Given the description of an element on the screen output the (x, y) to click on. 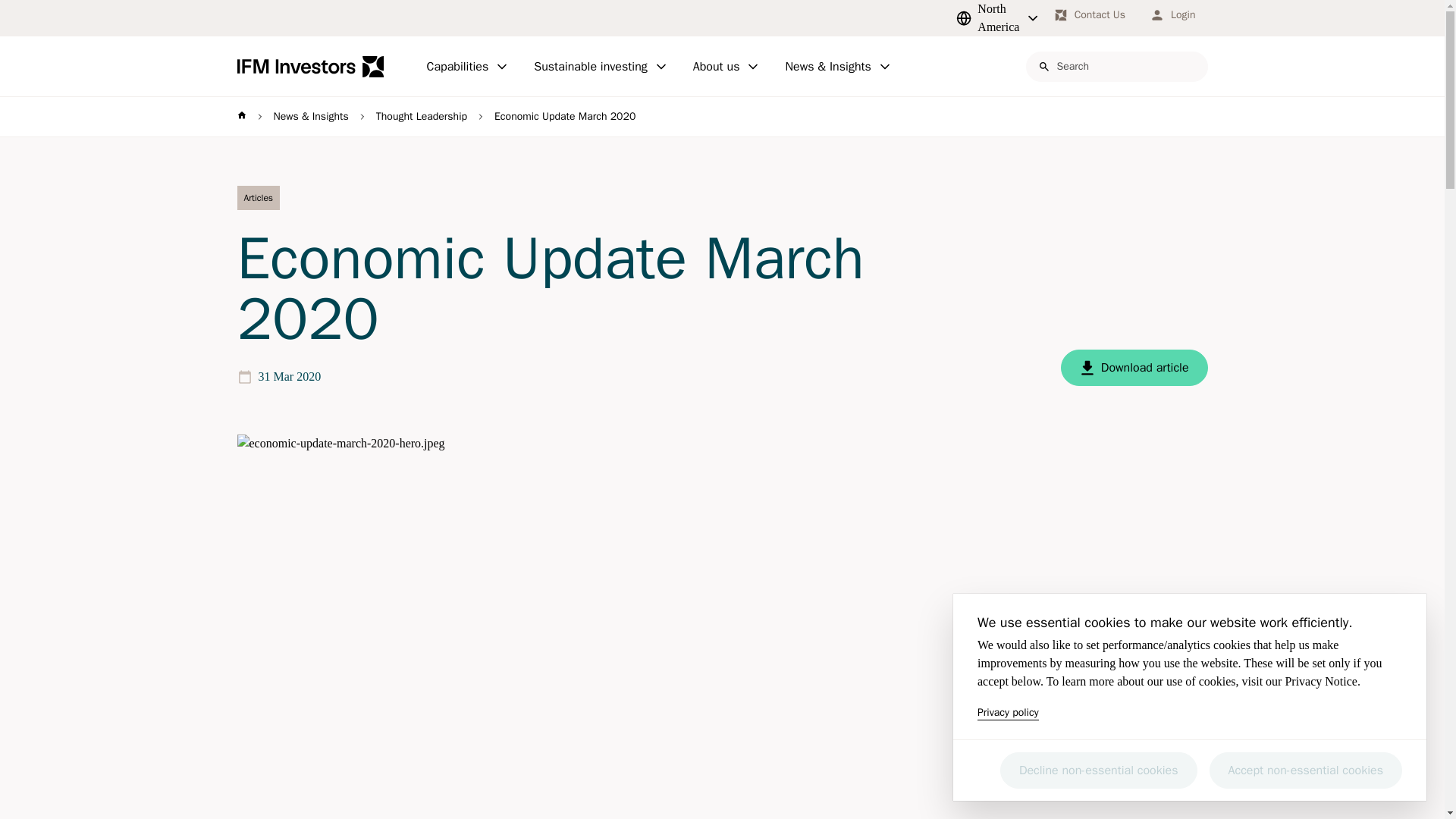
About us (727, 66)
Contact Us (1089, 15)
Sustainable investing (601, 66)
Home (309, 66)
Capabilities (467, 66)
Capabilities (467, 66)
Contact Us (1089, 15)
Login (1172, 15)
Login (1172, 15)
